Given the description of an element on the screen output the (x, y) to click on. 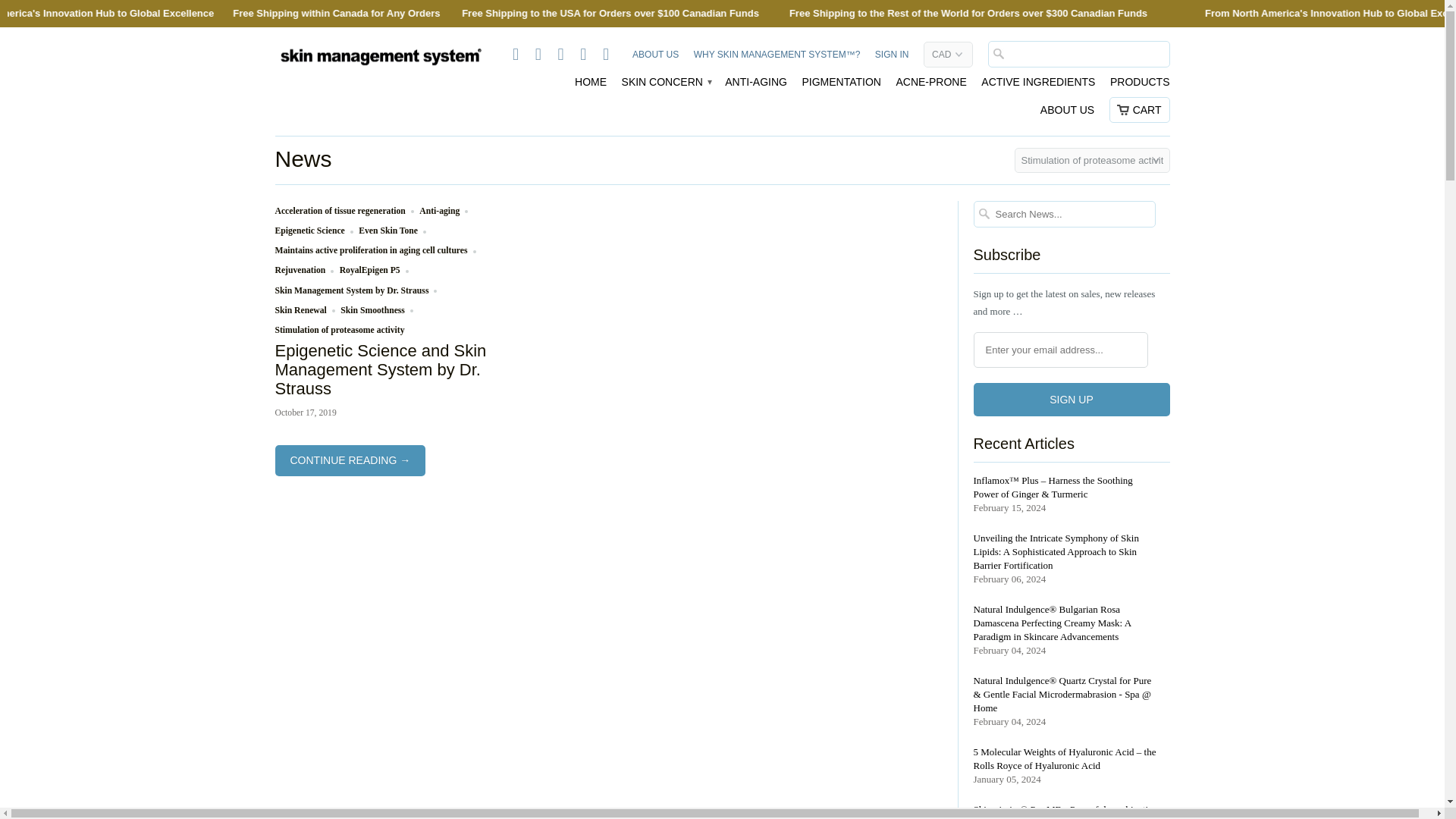
ACTIVE INGREDIENTS (1037, 85)
Sign Up (1072, 399)
PIGMENTATION (841, 85)
SIGN IN (891, 57)
ABOUT US (654, 57)
HOME (591, 85)
ABOUT US (1067, 113)
ACNE-PRONE (930, 85)
About Us (654, 57)
PRODUCTS (1139, 85)
CART (1139, 109)
Cart (1139, 109)
ANTI-AGING (756, 85)
